Given the description of an element on the screen output the (x, y) to click on. 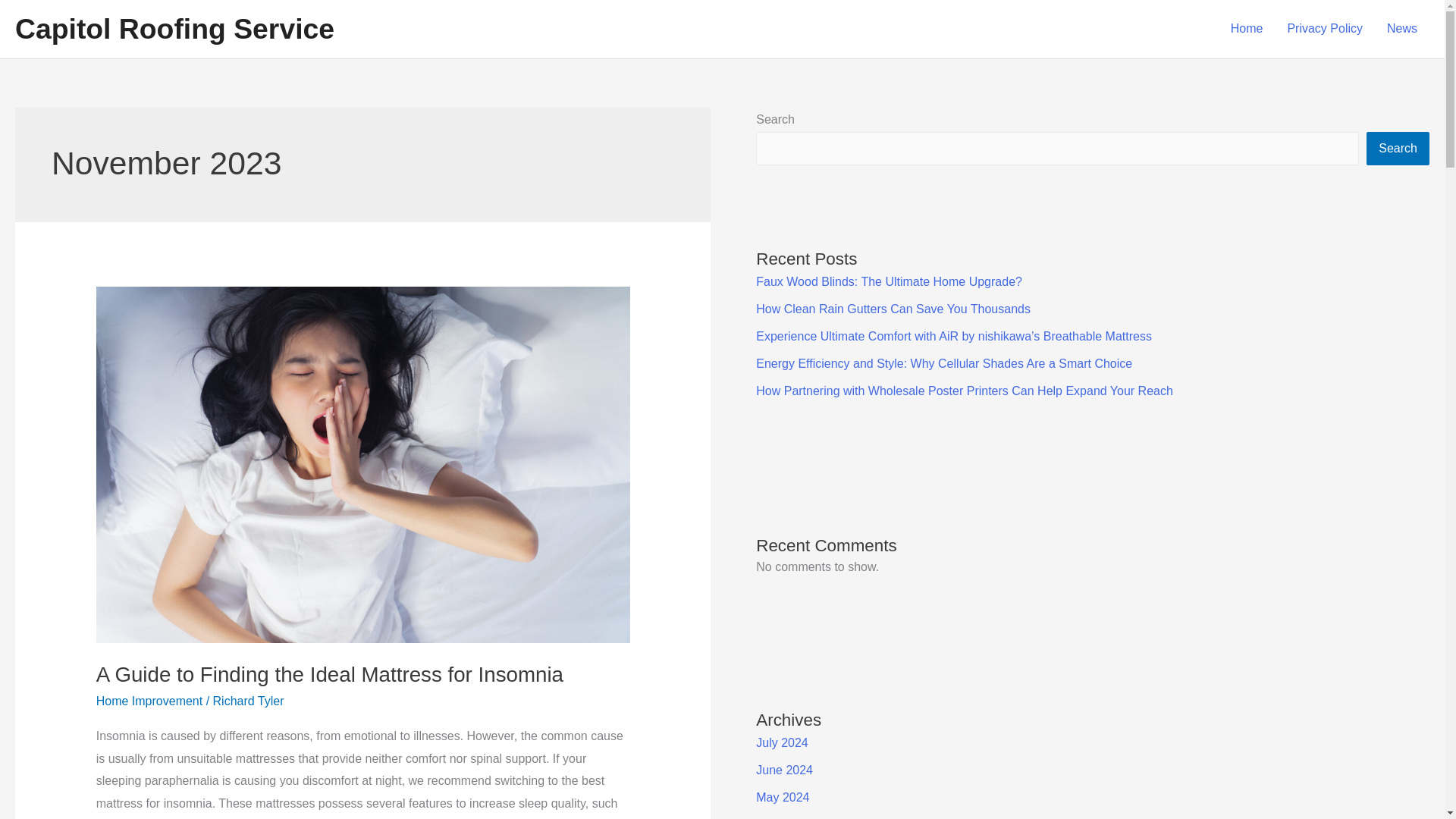
Home (1246, 28)
Capitol Roofing Service (174, 29)
Home Improvement (149, 700)
View all posts by Richard Tyler (247, 700)
News (1401, 28)
Privacy Policy (1324, 28)
Richard Tyler (247, 700)
A Guide to Finding the Ideal Mattress for Insomnia (329, 674)
